Given the description of an element on the screen output the (x, y) to click on. 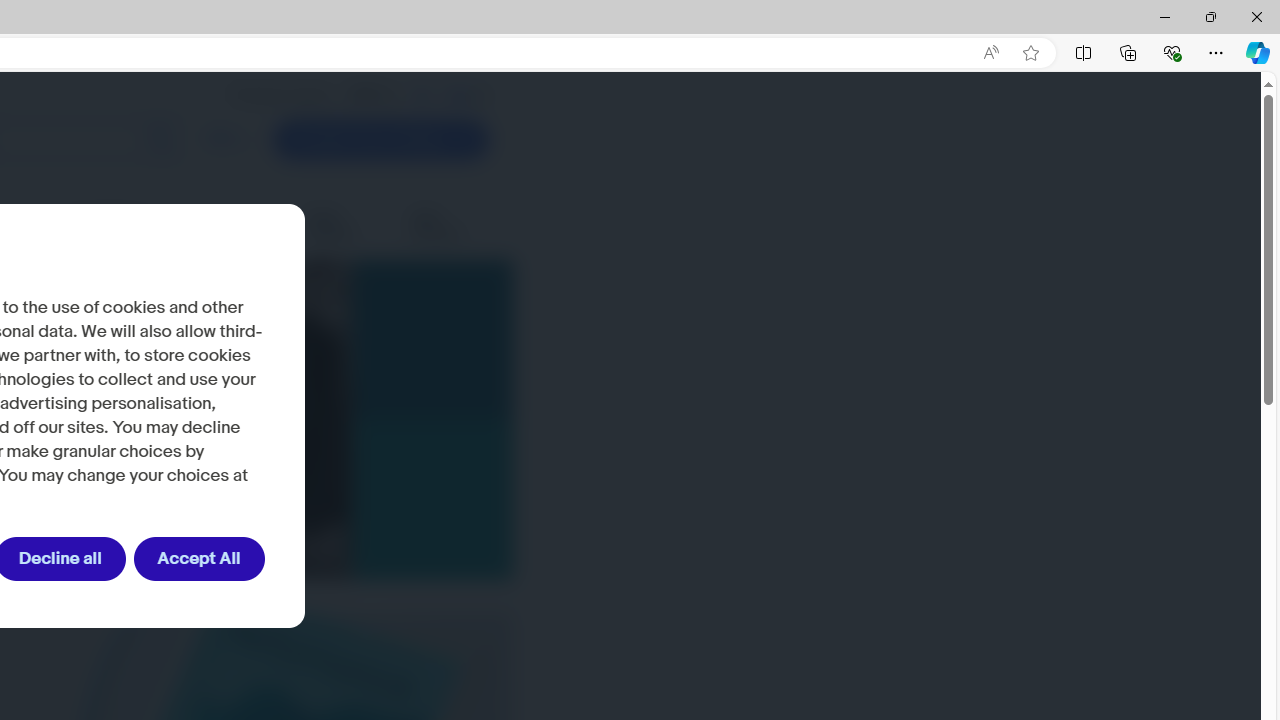
Class: btn__arrow (461, 139)
eBay Partners (450, 225)
Read aloud this page (Ctrl+Shift+U) (991, 53)
IN (421, 95)
SEA (459, 95)
Copilot (Ctrl+Shift+.) (1258, 52)
Marketing (250, 226)
Seller updates (345, 225)
Regulations & policies (132, 225)
Split screen (1083, 52)
Class: header__toplink-icon (480, 95)
Collections (1128, 52)
Minimize (1164, 16)
Class: search-input__btn (160, 139)
Add this page to favorites (Ctrl+D) (1030, 53)
